Given the description of an element on the screen output the (x, y) to click on. 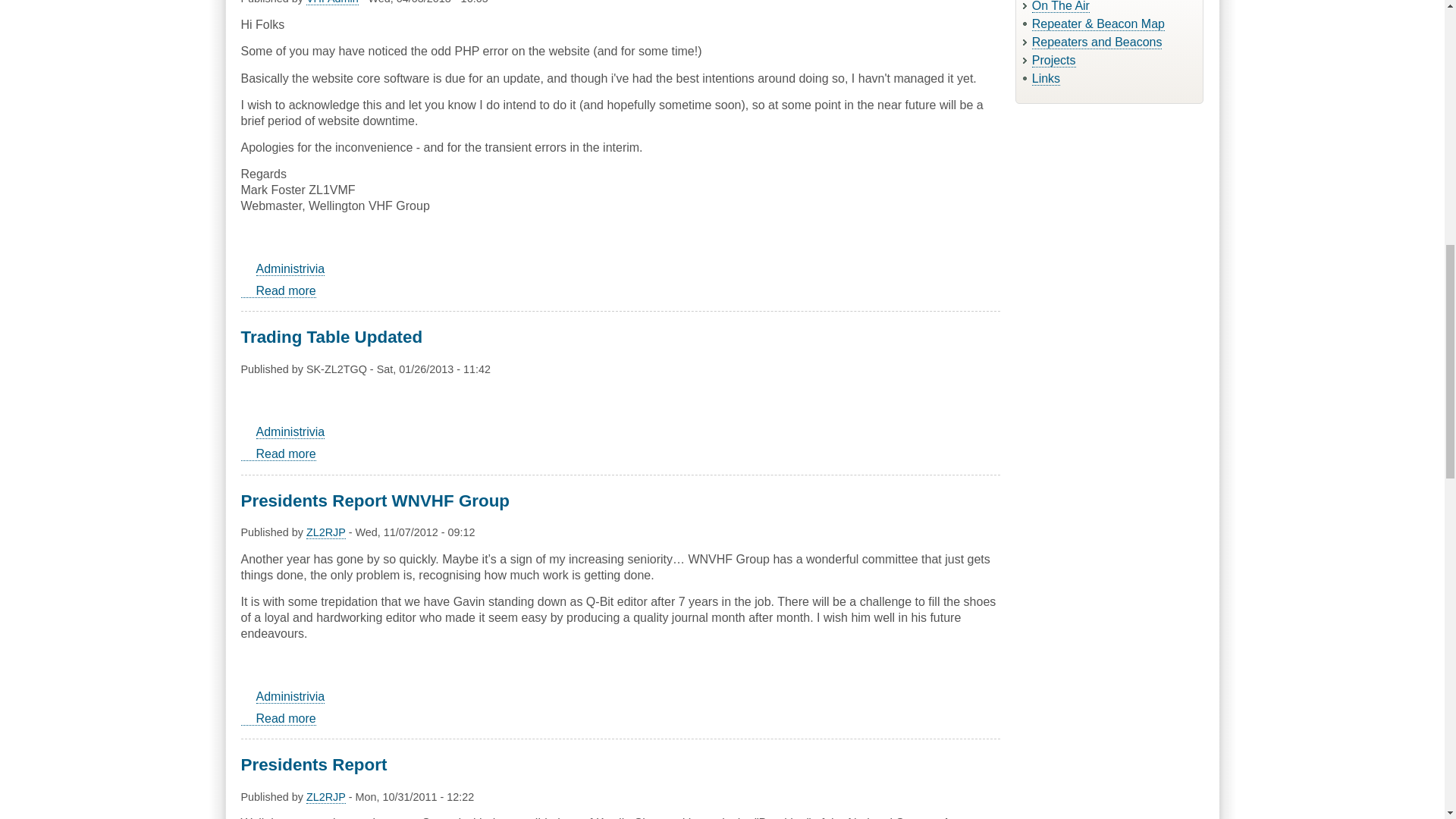
Wednesday, April 3, 2013 - 16:05 (427, 2)
Administrivia (290, 431)
Presidents Report (314, 764)
Trading Table Updated (332, 336)
Pending Update to WVHFG Website core software (278, 291)
ZL2RJP (325, 797)
View user profile. (331, 2)
Administrivia (290, 696)
Administrivia (290, 269)
VHFAdmin (331, 2)
ZL2RJP (278, 718)
Presidents Report WNVHF Group (325, 532)
